Given the description of an element on the screen output the (x, y) to click on. 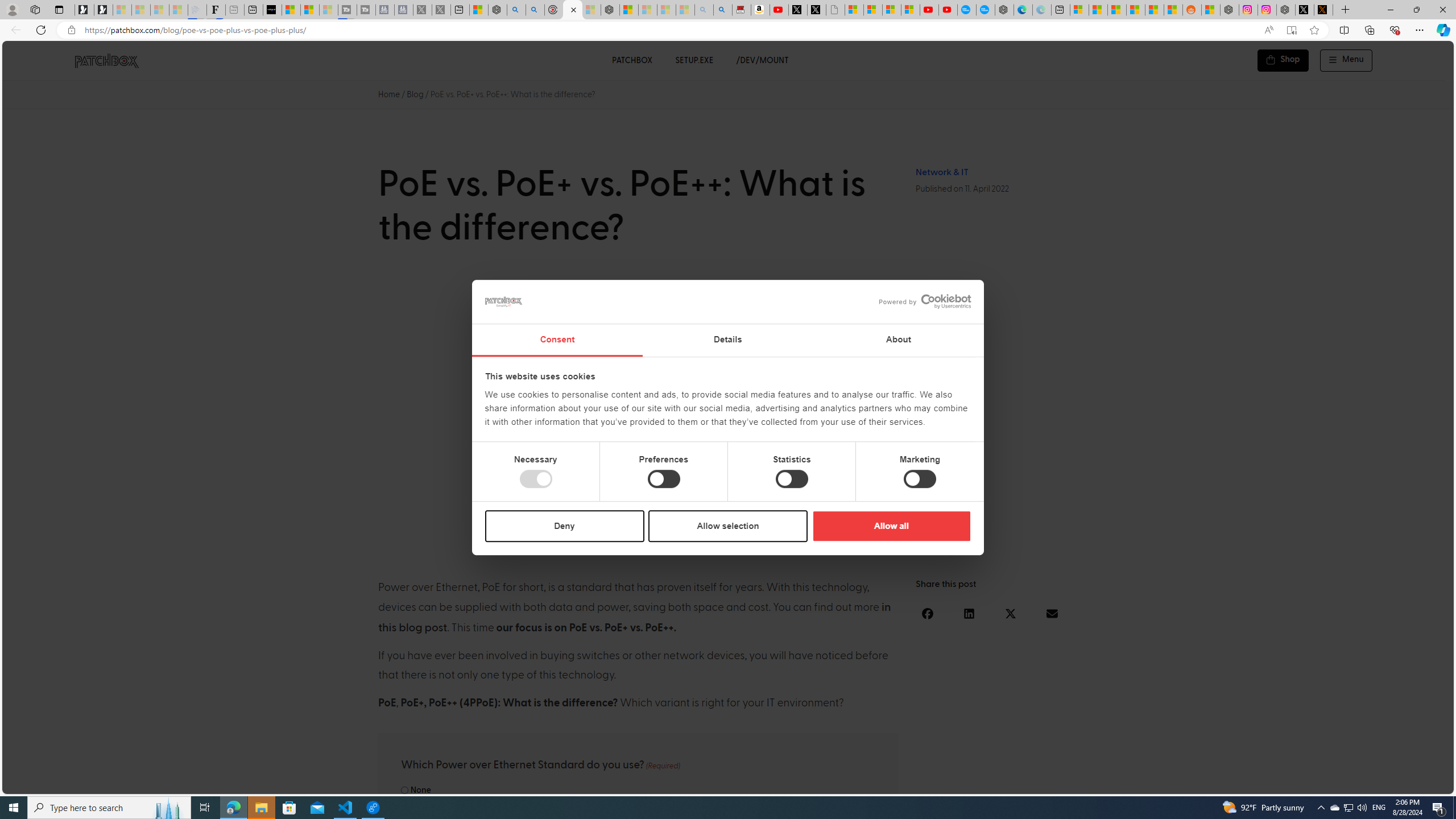
Language switcher : Spanish (1254, 782)
